Given the description of an element on the screen output the (x, y) to click on. 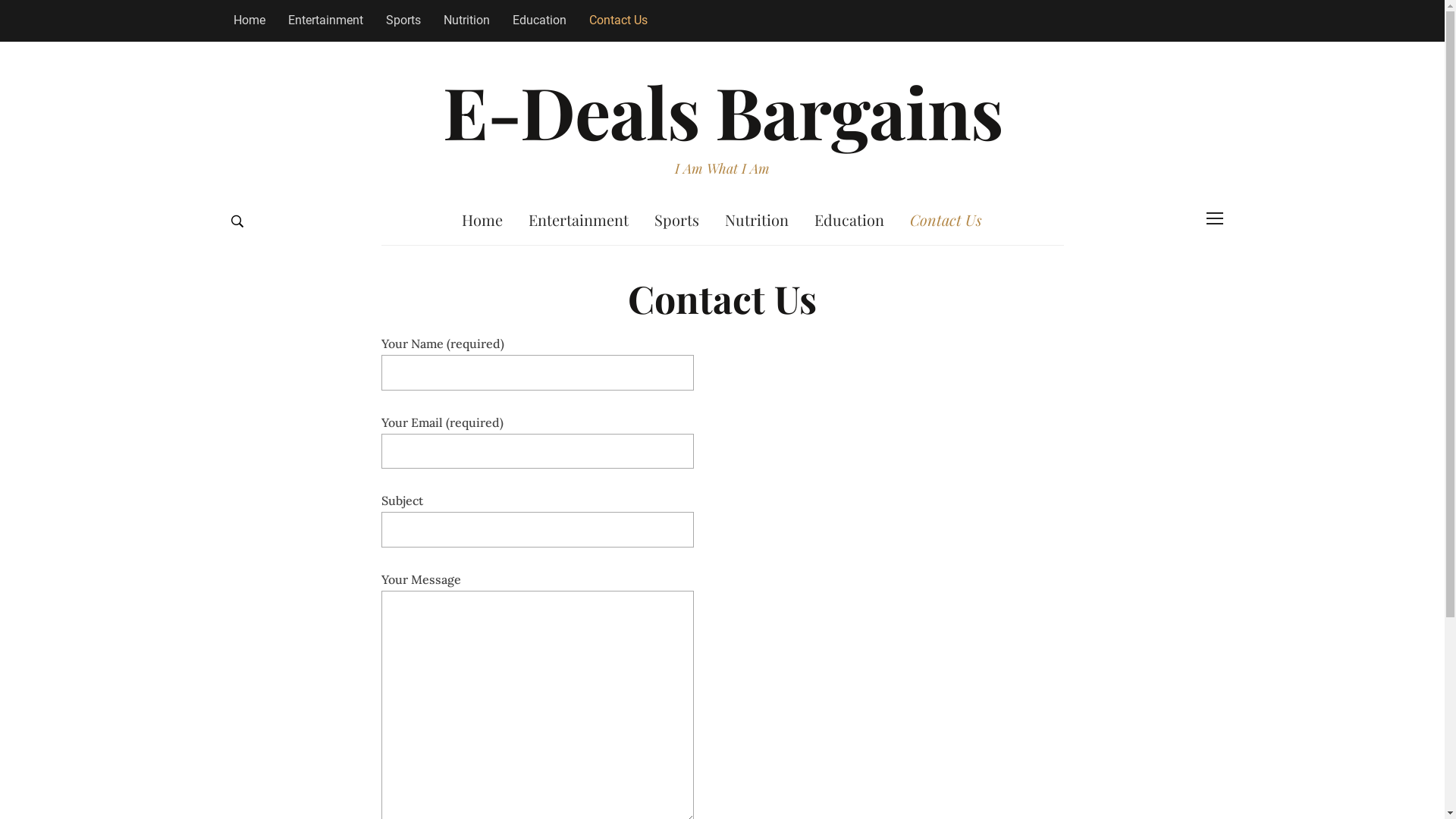
Toggle sidebar & navigation Element type: text (1213, 218)
E-Deals Bargains Element type: text (722, 110)
Entertainment Element type: text (578, 219)
Education Element type: text (538, 20)
Contact Us Element type: text (945, 219)
Education Element type: text (849, 219)
Home Element type: text (482, 219)
Sports Element type: text (403, 20)
Contact Us Element type: text (617, 20)
Search Element type: text (236, 221)
Sports Element type: text (676, 219)
Home Element type: text (248, 20)
Nutrition Element type: text (466, 20)
Entertainment Element type: text (324, 20)
Nutrition Element type: text (756, 219)
